Given the description of an element on the screen output the (x, y) to click on. 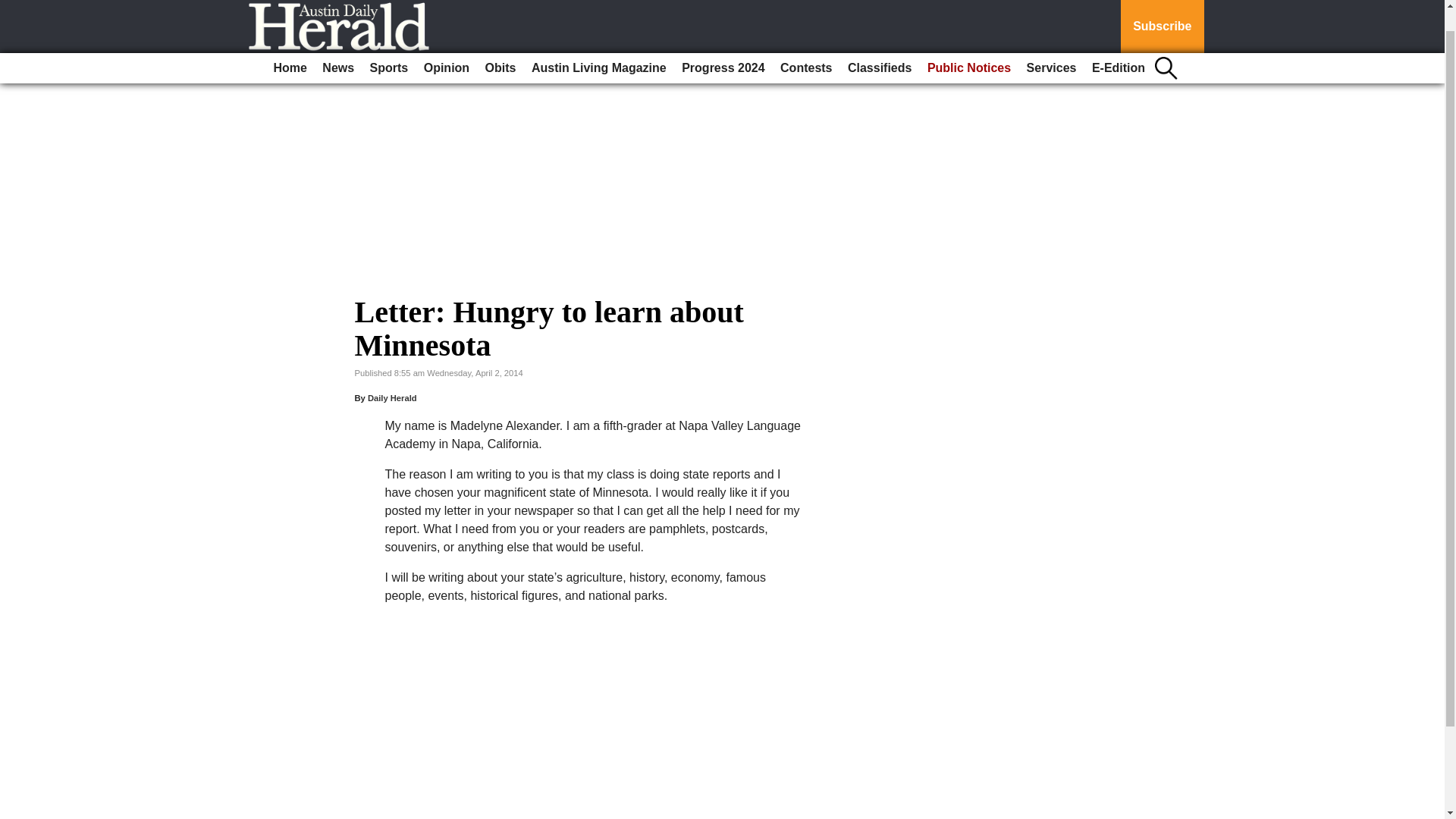
Opinion (446, 44)
Public Notices (968, 44)
Subscribe (1162, 14)
Home (289, 44)
Progress 2024 (722, 44)
Services (1051, 44)
Austin Living Magazine (598, 44)
Classifieds (879, 44)
Sports (389, 44)
Obits (500, 44)
